Given the description of an element on the screen output the (x, y) to click on. 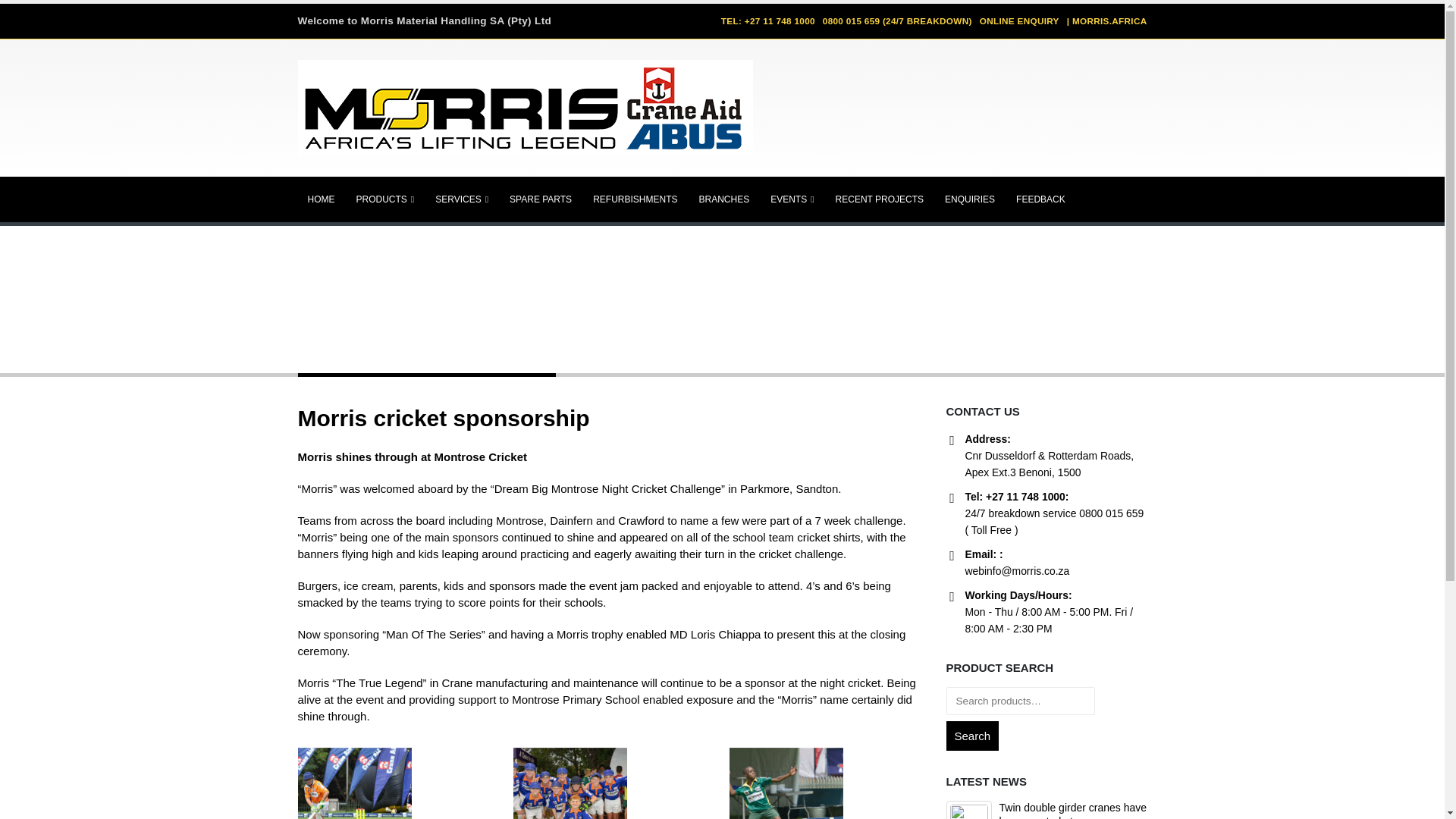
HOME (320, 198)
ONLINE ENQUIRY (1018, 21)
PRODUCTS (384, 198)
